Given the description of an element on the screen output the (x, y) to click on. 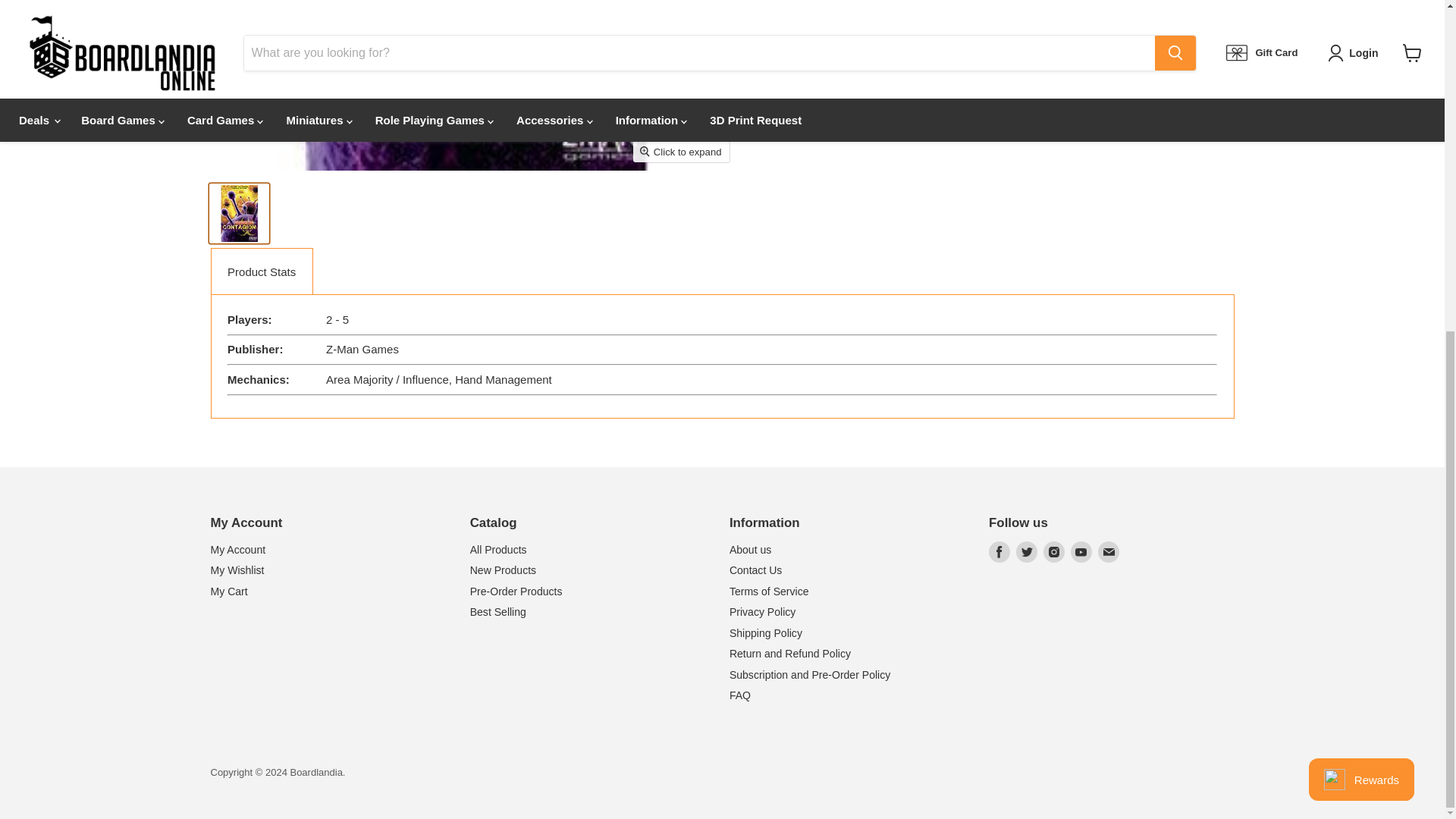
Instagram (1053, 551)
Email (1108, 551)
Facebook (999, 551)
Youtube (1081, 551)
Twitter (1026, 551)
Z-Man Games (814, 39)
